Given the description of an element on the screen output the (x, y) to click on. 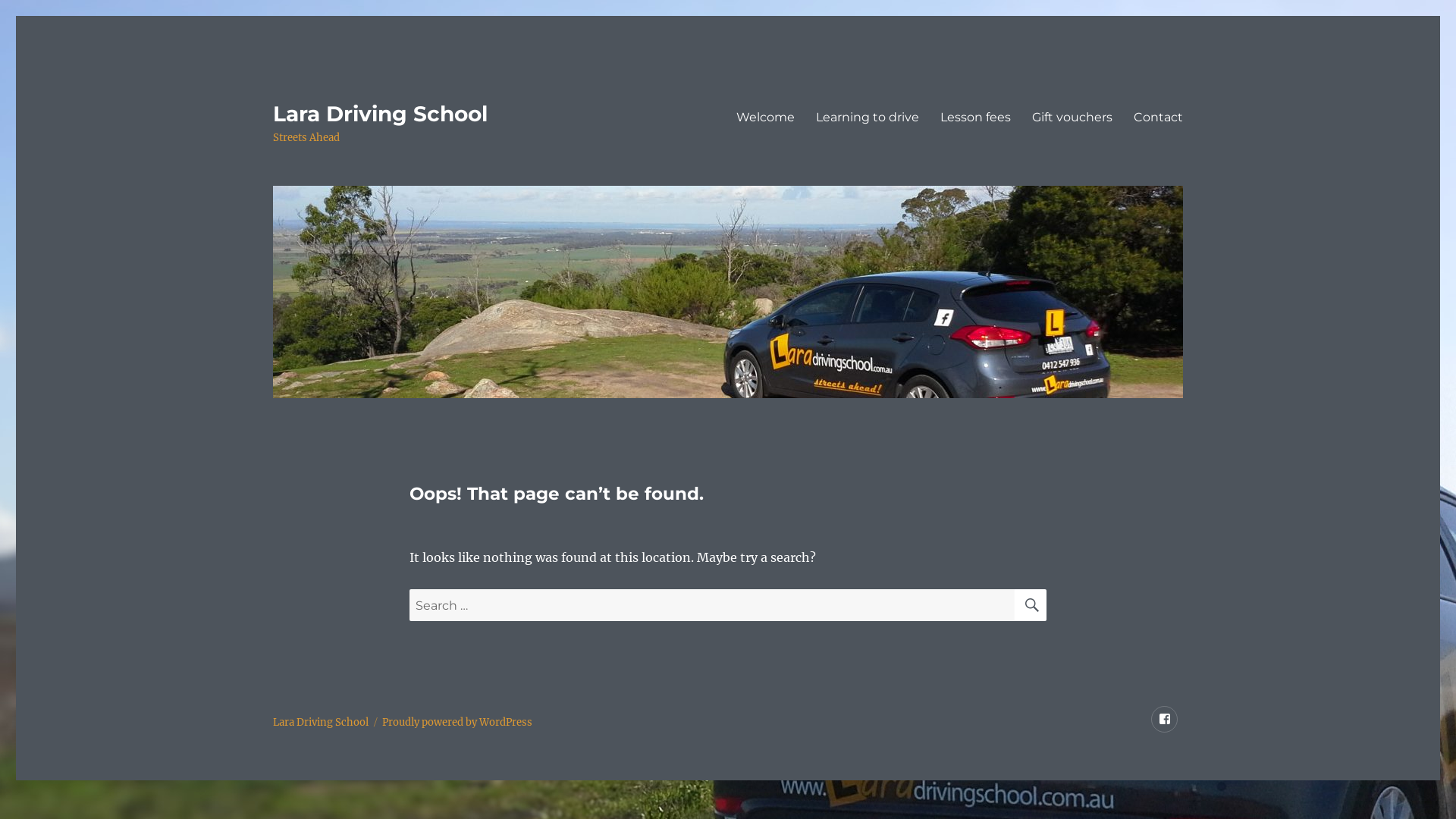
Lara Driving School Element type: text (320, 721)
Gift vouchers Element type: text (1072, 116)
SEARCH Element type: text (1030, 605)
Welcome Element type: text (765, 116)
Learning to drive Element type: text (867, 116)
Facebook page Element type: text (1164, 719)
Contact Element type: text (1158, 116)
Lara Driving School Element type: text (380, 113)
Proudly powered by WordPress Element type: text (457, 721)
Lesson fees Element type: text (975, 116)
